Given the description of an element on the screen output the (x, y) to click on. 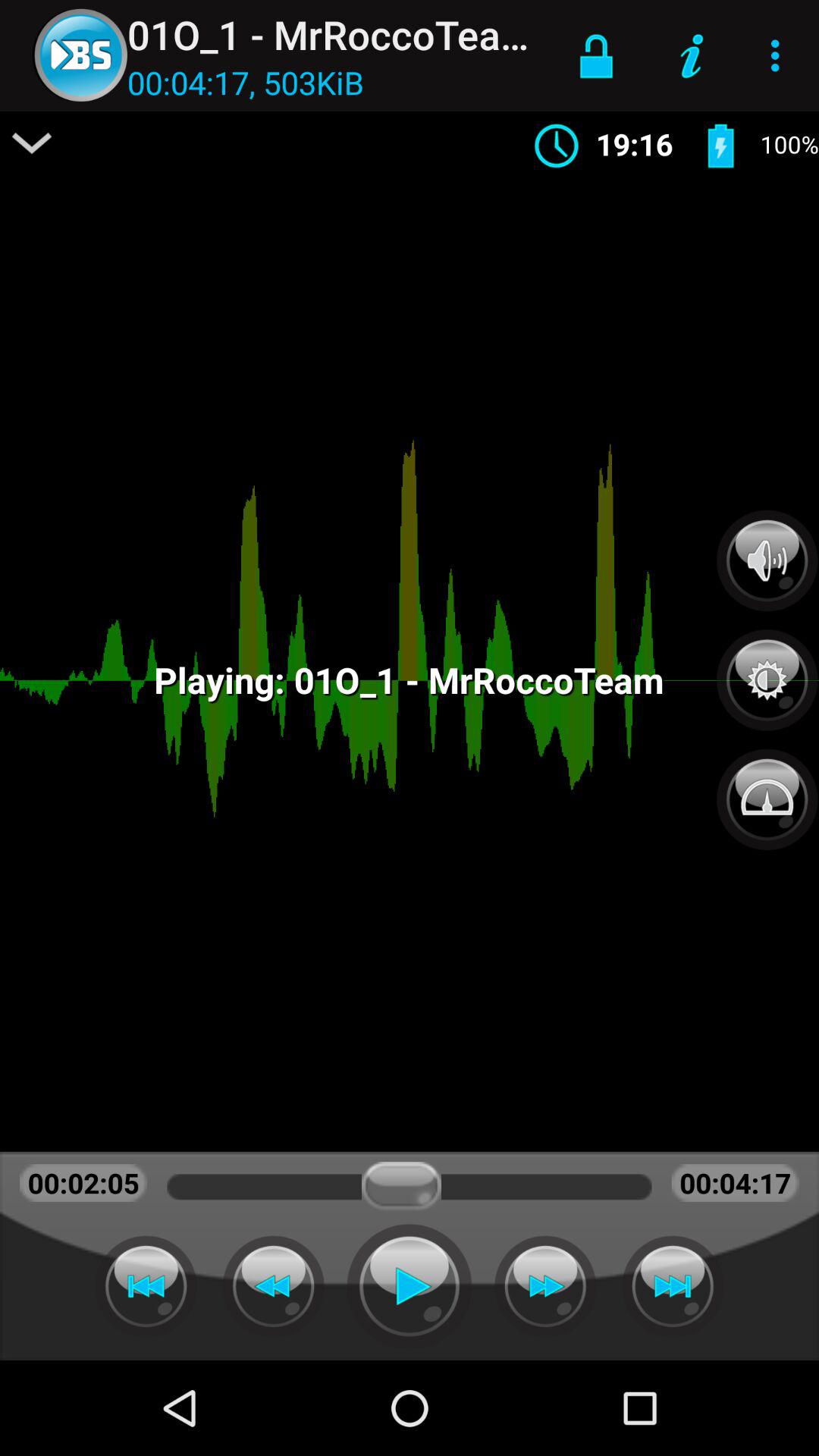
more options (31, 143)
